Given the description of an element on the screen output the (x, y) to click on. 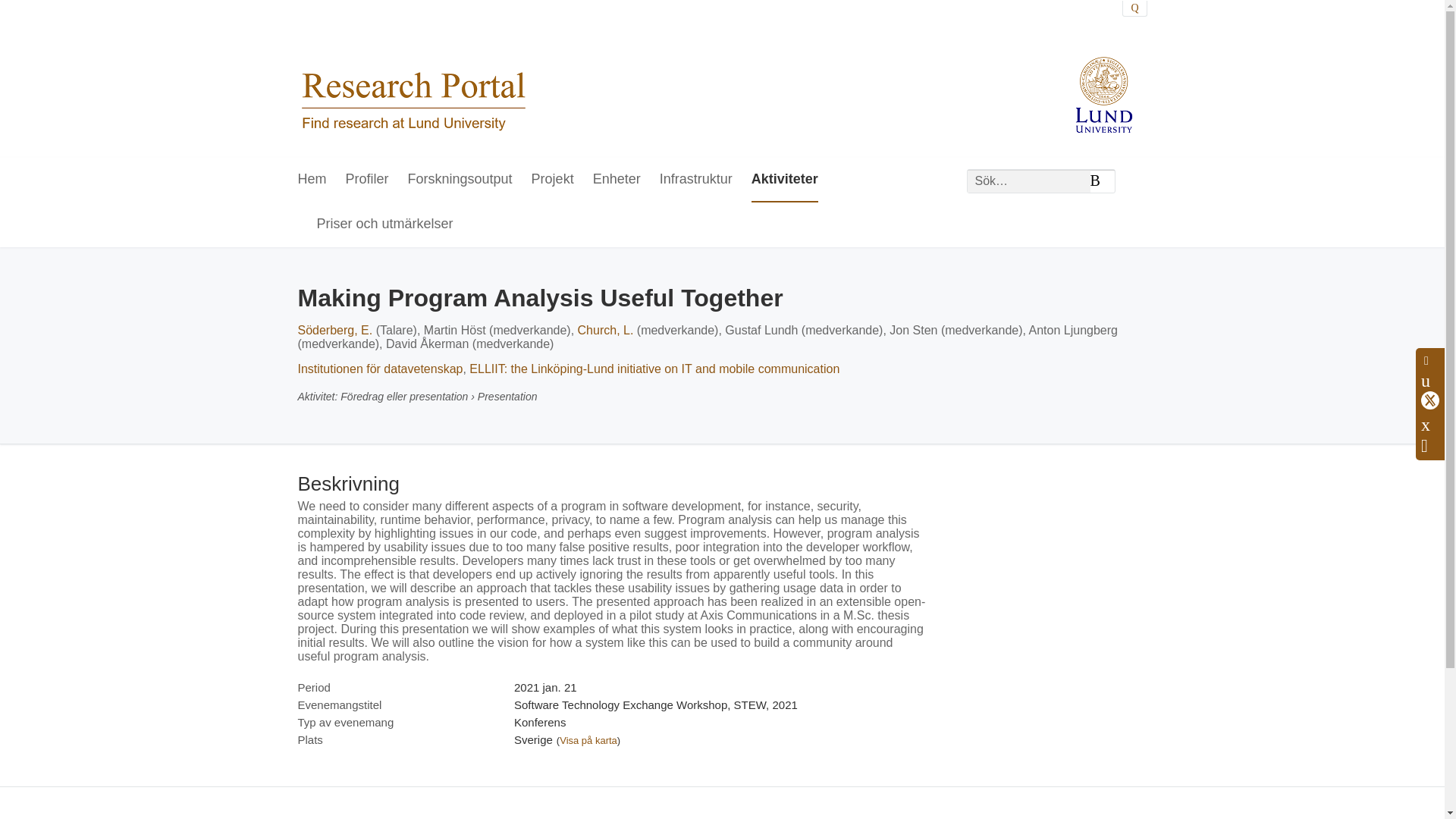
Forskningsoutput (459, 180)
Aktiviteter (784, 180)
Profiler (367, 180)
Projekt (552, 180)
Lunds universitet Hem (412, 78)
X (1430, 400)
Church, L. (605, 329)
Infrastruktur (695, 180)
Enheter (616, 180)
